Given the description of an element on the screen output the (x, y) to click on. 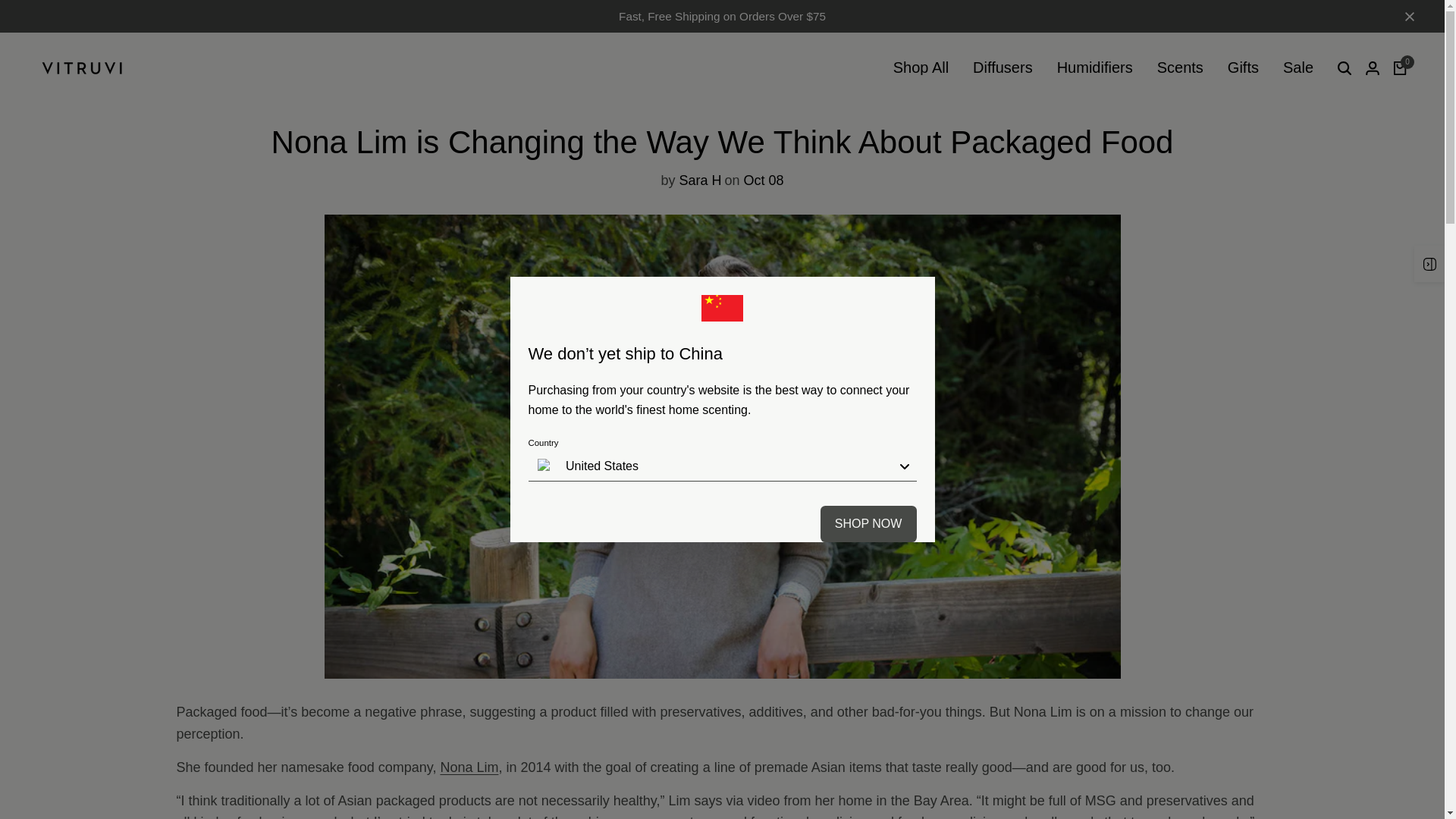
Nona Lim foods (468, 767)
Shop All (921, 67)
SHOP NOW (869, 524)
Sale (1297, 67)
Shop All (721, 15)
United States (721, 466)
0 (1399, 68)
Gifts (1243, 67)
